Given the description of an element on the screen output the (x, y) to click on. 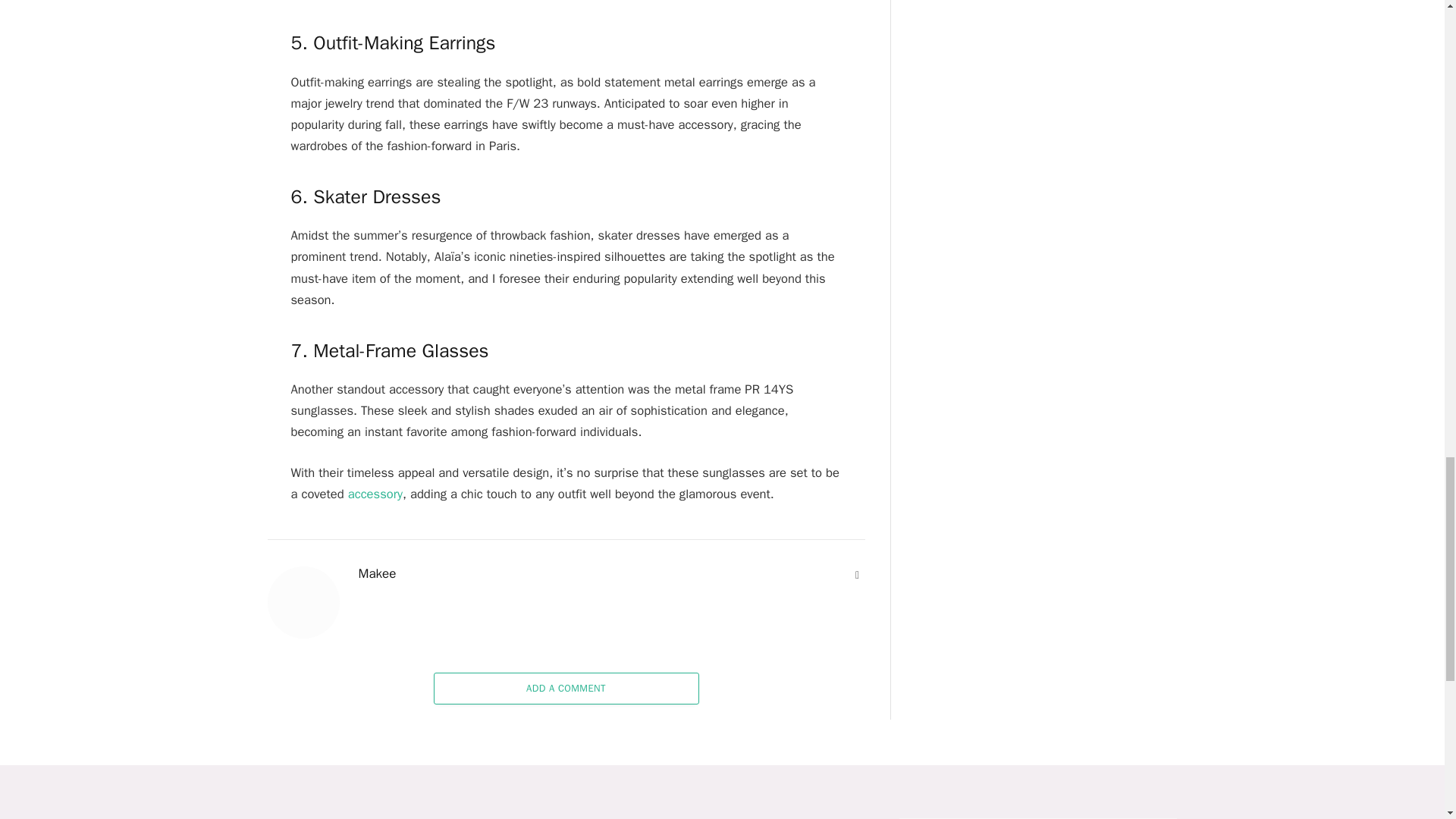
ADD A COMMENT (565, 688)
Website (856, 575)
Posts by Makee (377, 573)
Makee (377, 573)
accessory (375, 494)
Website (856, 575)
